Given the description of an element on the screen output the (x, y) to click on. 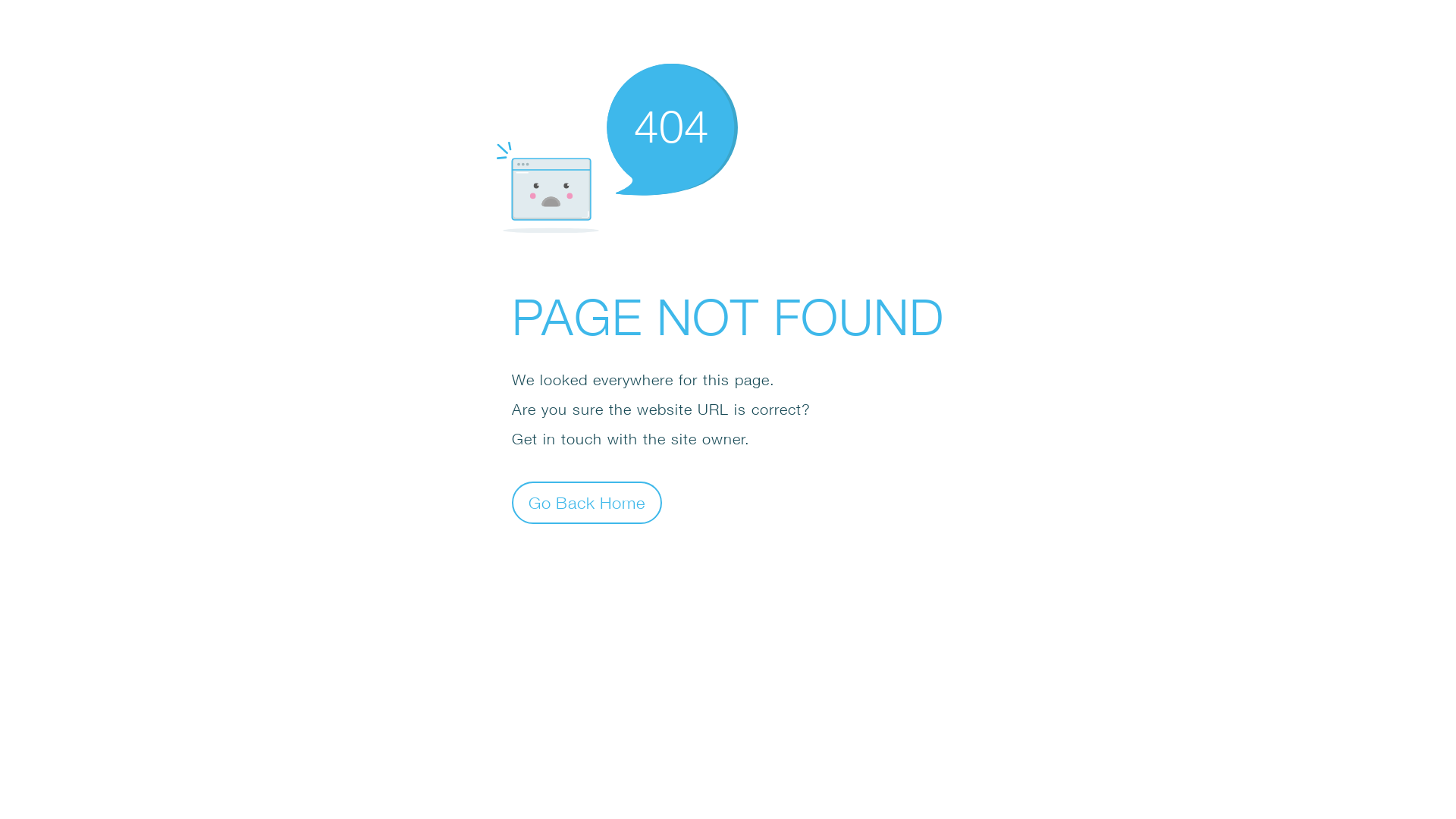
Go Back Home Element type: text (586, 502)
